Given the description of an element on the screen output the (x, y) to click on. 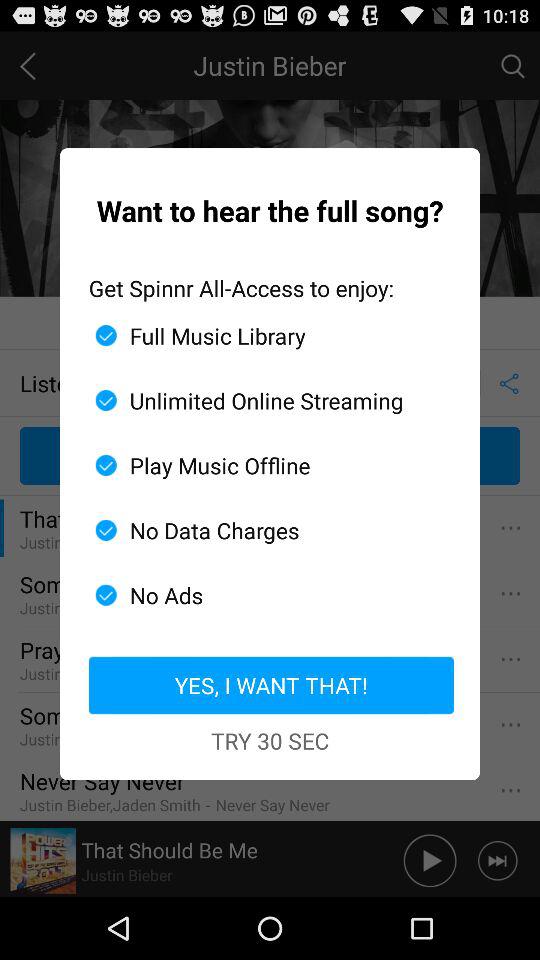
turn on item above try 30 sec (270, 685)
